Given the description of an element on the screen output the (x, y) to click on. 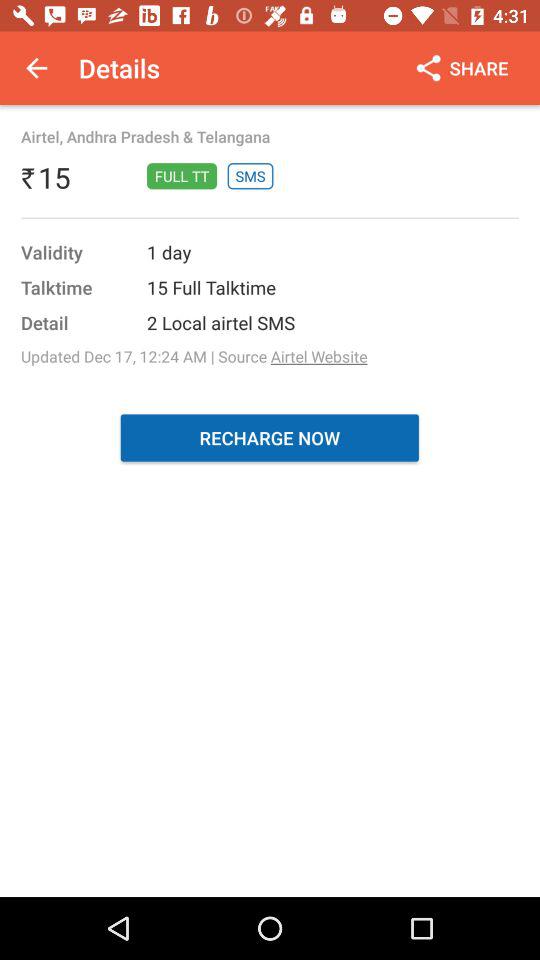
press the icon at the top right corner (460, 67)
